Given the description of an element on the screen output the (x, y) to click on. 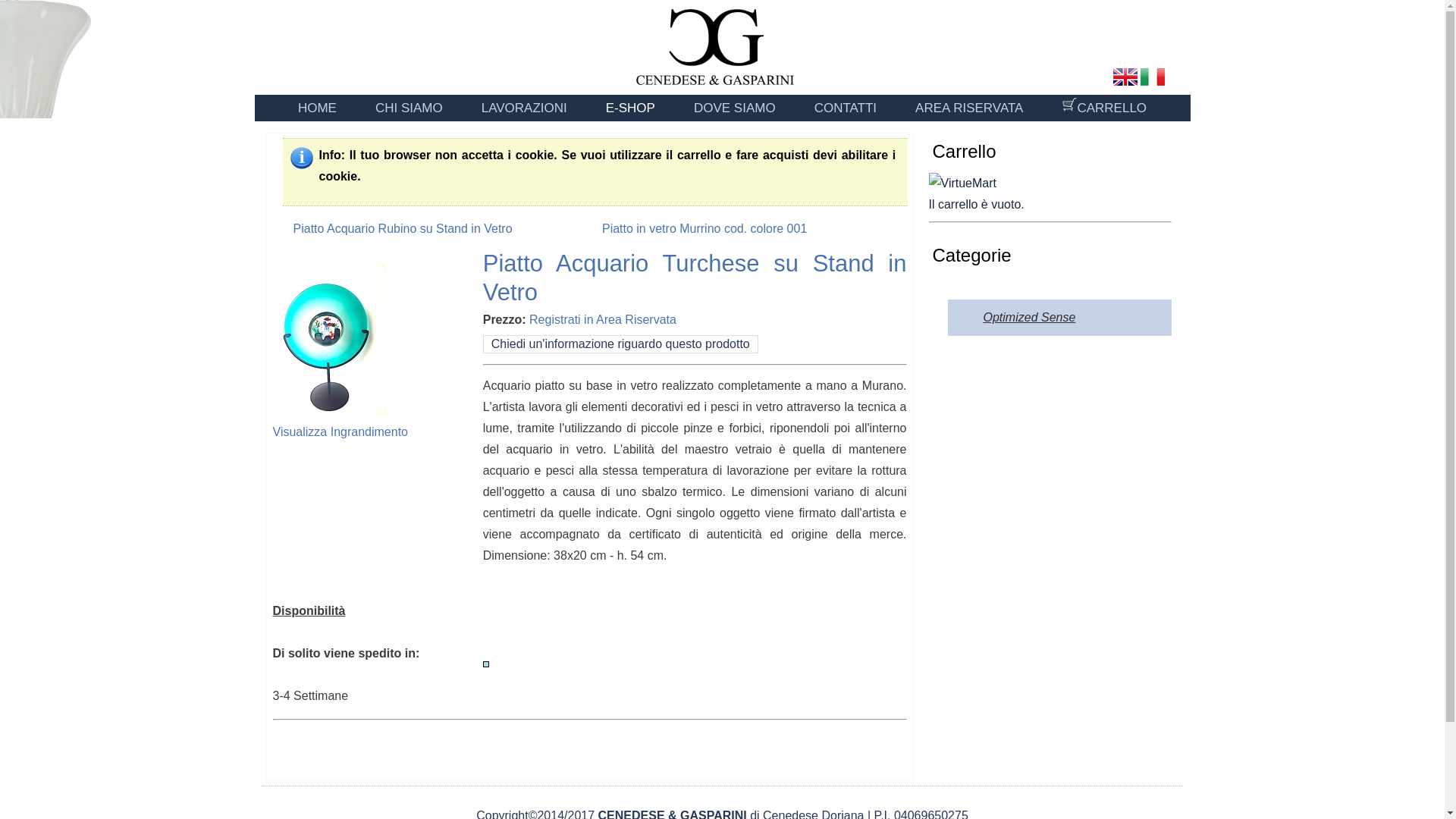
AREA RISERVATA (969, 108)
Registrati in Area Riservata (603, 318)
CONTATTI (844, 108)
Piatto Acquario Turchese su Stand in Vetro (340, 421)
Visualizza Ingrandimento (340, 421)
Optimized Sense (1028, 317)
E-SHOP (630, 108)
Piatto in vetro Murrino cod. colore 001 (715, 228)
LAVORAZIONI (524, 108)
Italian - Italy (1152, 77)
